Given the description of an element on the screen output the (x, y) to click on. 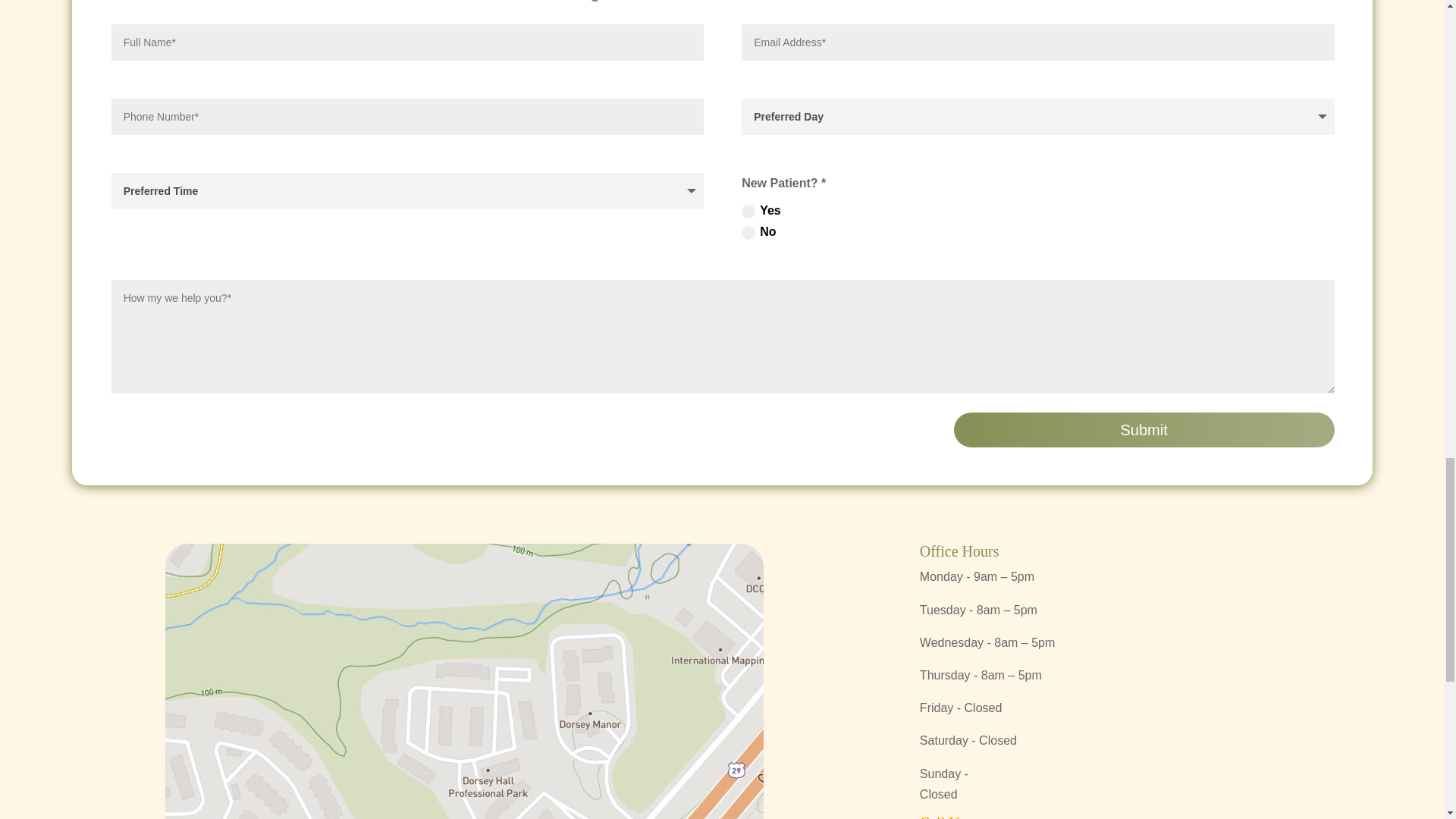
Only numbers allowed. (408, 116)
